Given the description of an element on the screen output the (x, y) to click on. 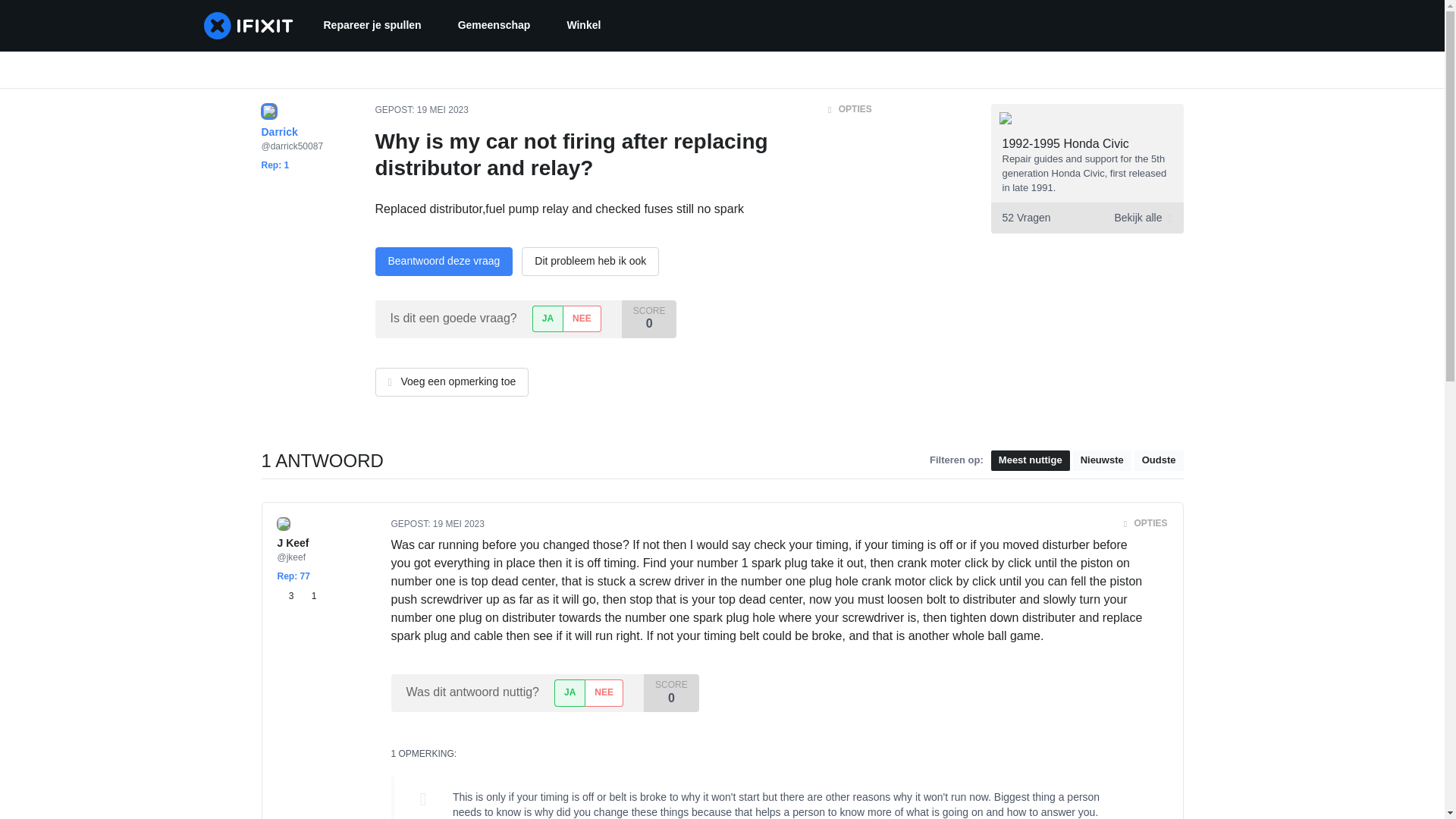
Fri, 19 May 2023 20:42:45 -0700 (442, 109)
1 Zilver badges (308, 595)
Gemeenschap (493, 25)
GEPOST: 19 MEI 2023 (420, 109)
3 1 (297, 595)
Winkel (583, 25)
Nieuwste (1102, 460)
Voeg een opmerking toe (451, 381)
NEE (604, 692)
Repareer je spullen (371, 25)
Beantwoord deze vraag (443, 261)
Fri, 19 May 2023 22:44:24 -0700 (458, 523)
GEPOST: 19 MEI 2023 (437, 523)
Dit probleem heb ik ook (1086, 217)
